Given the description of an element on the screen output the (x, y) to click on. 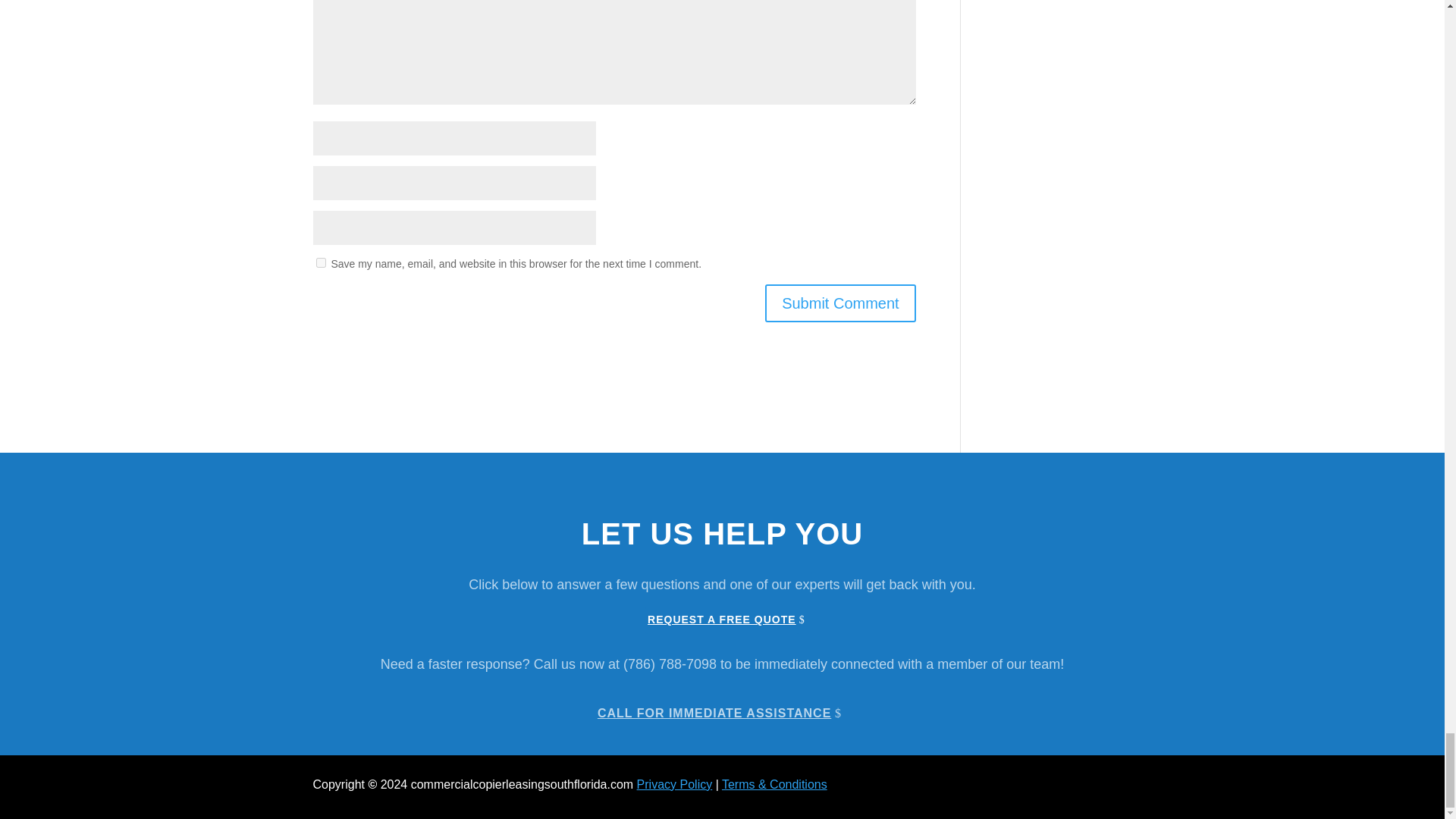
Submit Comment (840, 303)
yes (319, 262)
Submit Comment (840, 303)
